Given the description of an element on the screen output the (x, y) to click on. 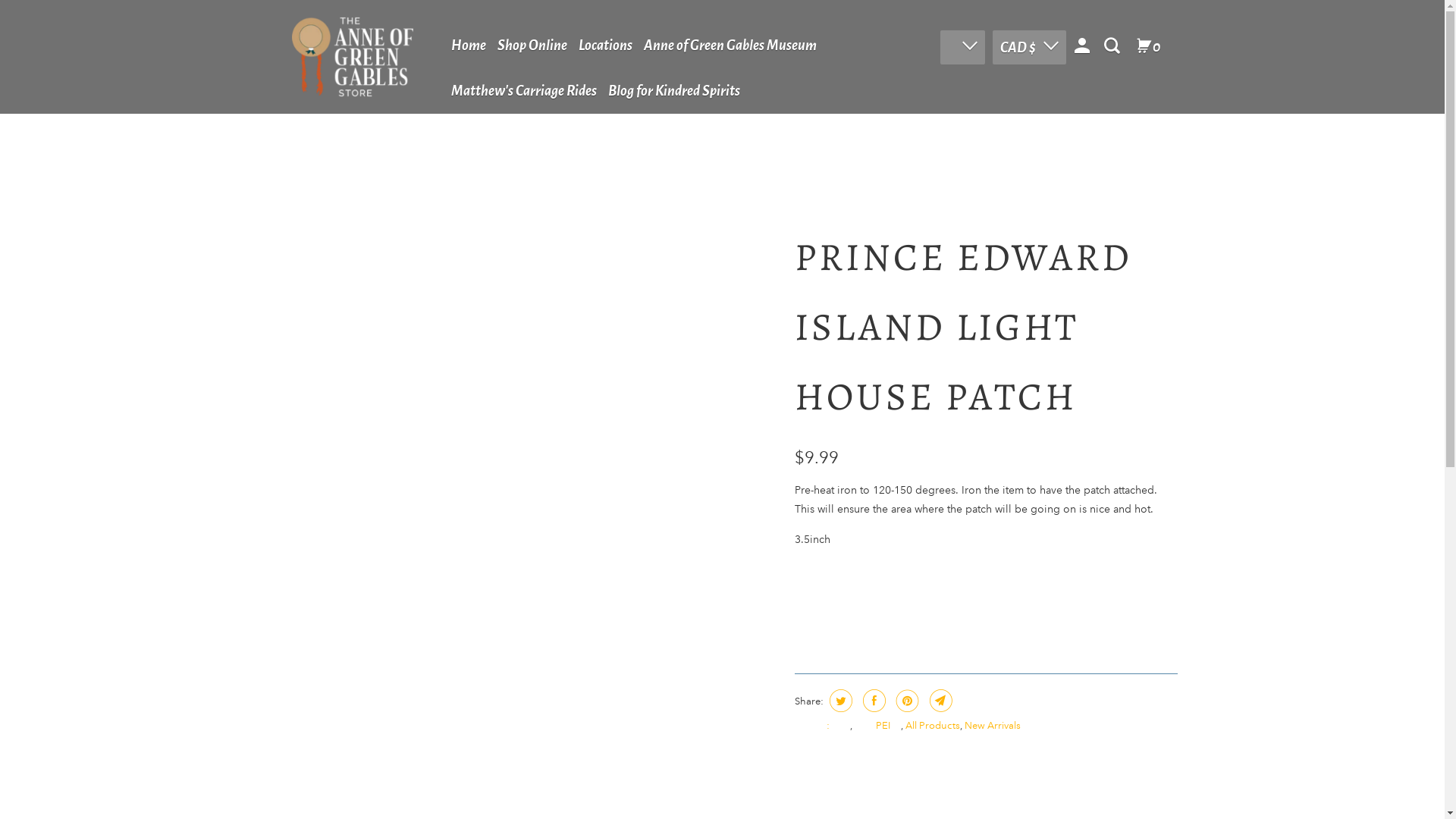
Blog for Kindred Spirits Element type: text (674, 90)
Home Element type: text (467, 45)
Locations Element type: text (604, 45)
Matthew's Carriage Rides Element type: text (523, 90)
New Arrivals Element type: text (992, 725)
All Products Element type: text (932, 725)
Anne of Green Gables Museum Element type: text (729, 45)
0 Element type: text (1147, 46)
Theannestore Element type: hover (351, 57)
Shop Online Element type: text (532, 45)
CAD $ Element type: text (1028, 47)
